Given the description of an element on the screen output the (x, y) to click on. 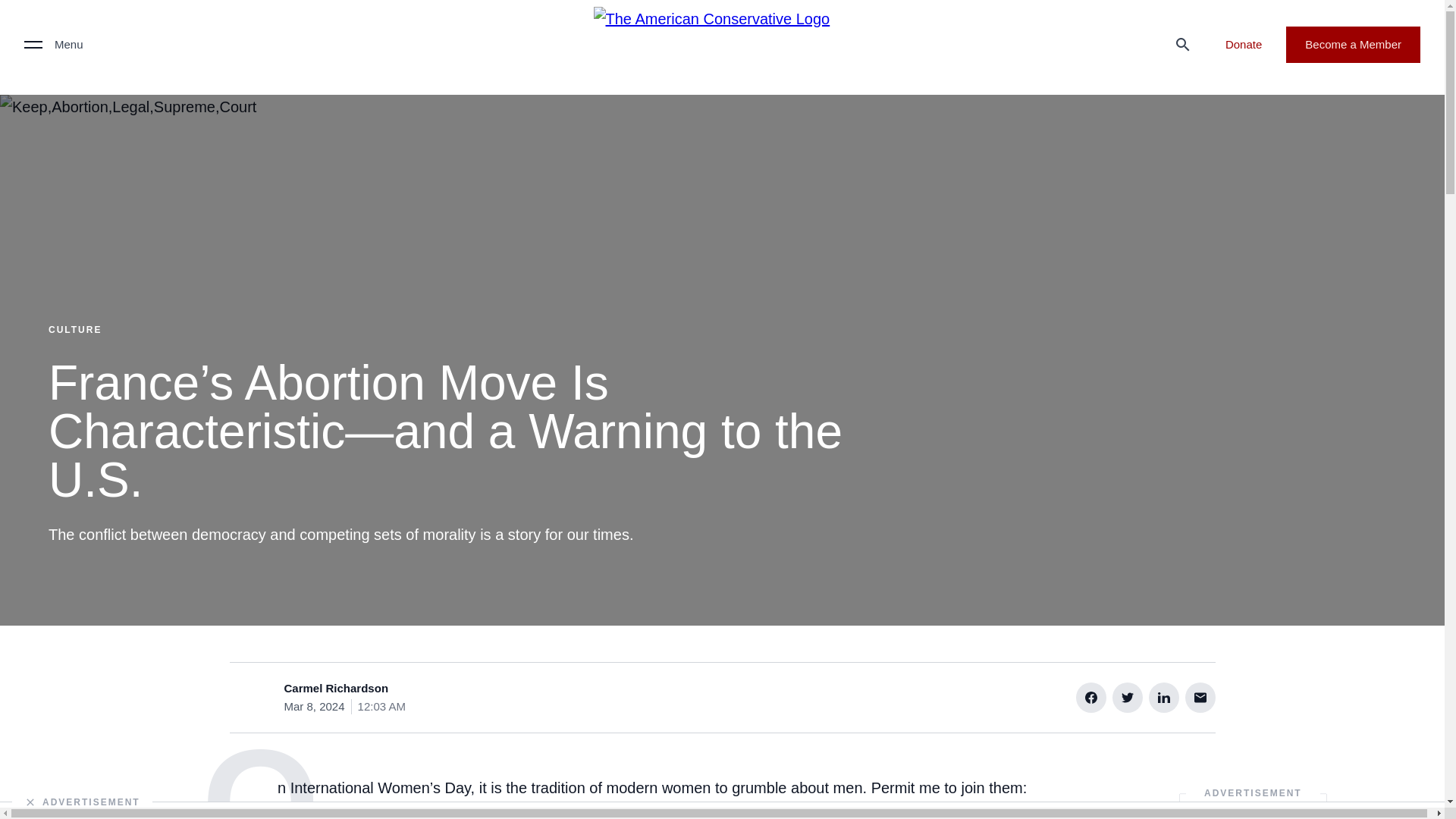
Carmel Richardson (335, 688)
Become a Member (1353, 44)
a right to abortion in the French constitution (654, 811)
Menu (53, 44)
search (1182, 44)
Donate (1243, 44)
